Given the description of an element on the screen output the (x, y) to click on. 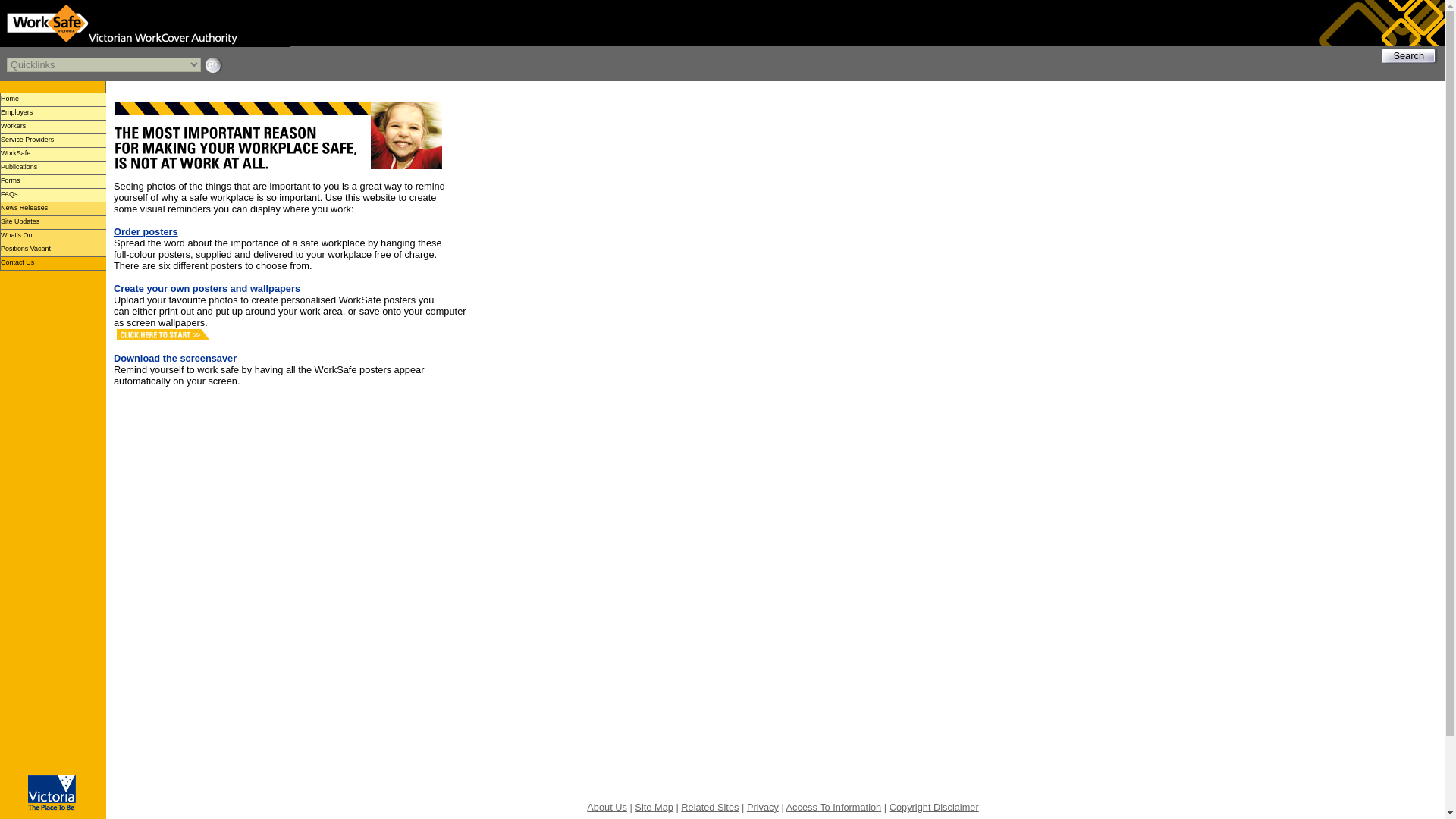
Site Map (653, 807)
Search (1408, 55)
WorkSafe Victoria (144, 23)
WorkSafe Victoria (82, 23)
Publications (53, 167)
About Us (606, 807)
Go (212, 65)
Service Providers (53, 140)
Forms (53, 181)
Copyright Disclaimer (933, 807)
FAQs (53, 194)
Create your own posters and wallpapers (206, 288)
Employers (53, 112)
Related Sites (709, 807)
WorkSafe (53, 153)
